Given the description of an element on the screen output the (x, y) to click on. 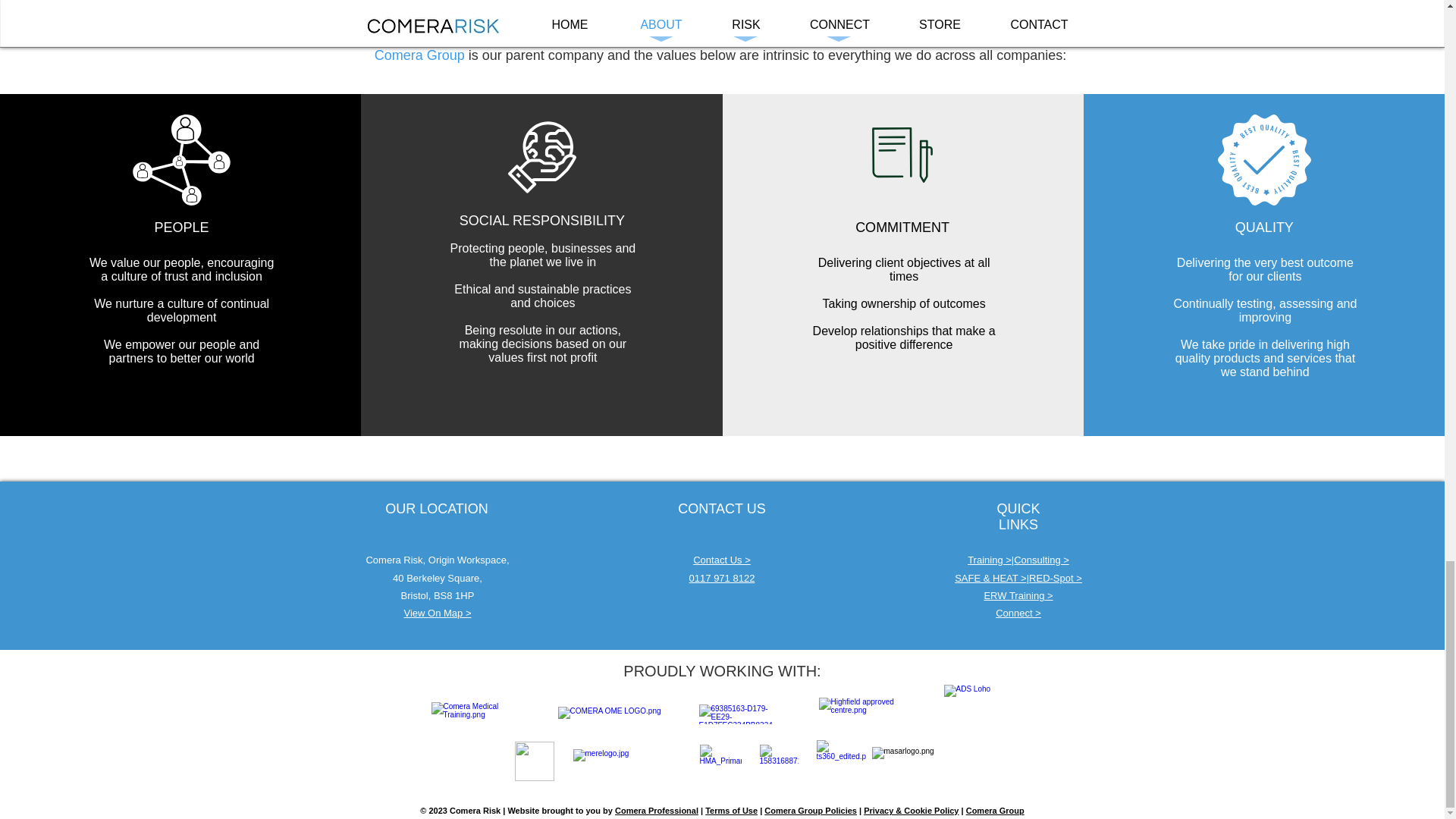
CONTACT US (721, 508)
elcas-logo.png (533, 761)
0117 971 8122 (721, 577)
ads logo (981, 710)
Comera Risk, Origin Workspace, 40 Berkeley Square, (436, 568)
Bristol, BS8 1HP (437, 595)
Comera Group (419, 55)
ComeraOMELogo.jpg (612, 714)
